Given the description of an element on the screen output the (x, y) to click on. 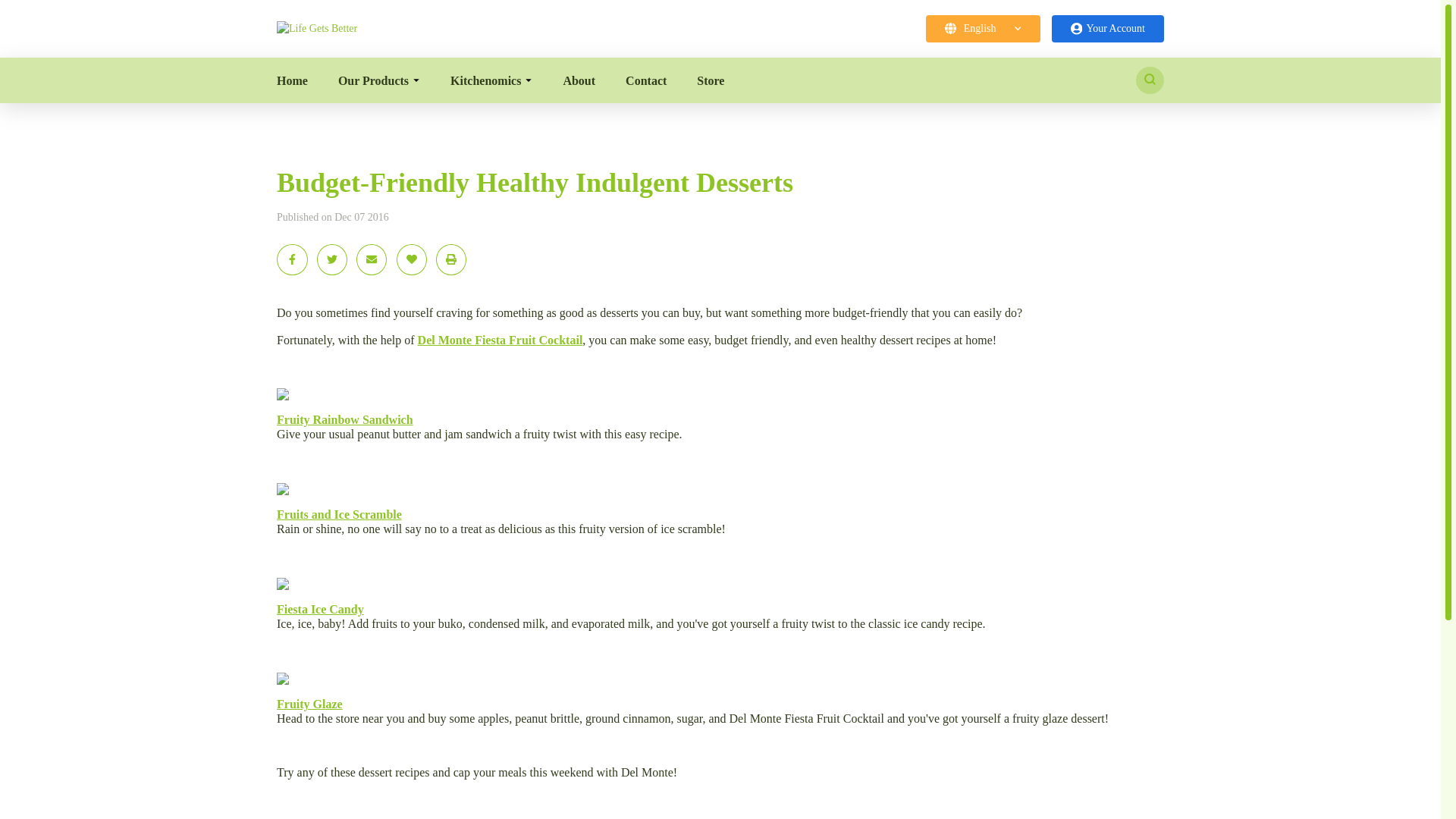
Del Monte Fiesta Fruit Cocktail (500, 339)
Store (710, 80)
Life Gets Better (316, 28)
Our Products (378, 80)
Kitchenomics (490, 80)
Fruits and Ice Scramble (338, 513)
Your Account (1107, 28)
Contact (646, 80)
Home (291, 80)
Fruity Rainbow Sandwich (344, 419)
About (578, 80)
Fruity Glaze (309, 703)
Fiesta Ice Candy (320, 608)
